Given the description of an element on the screen output the (x, y) to click on. 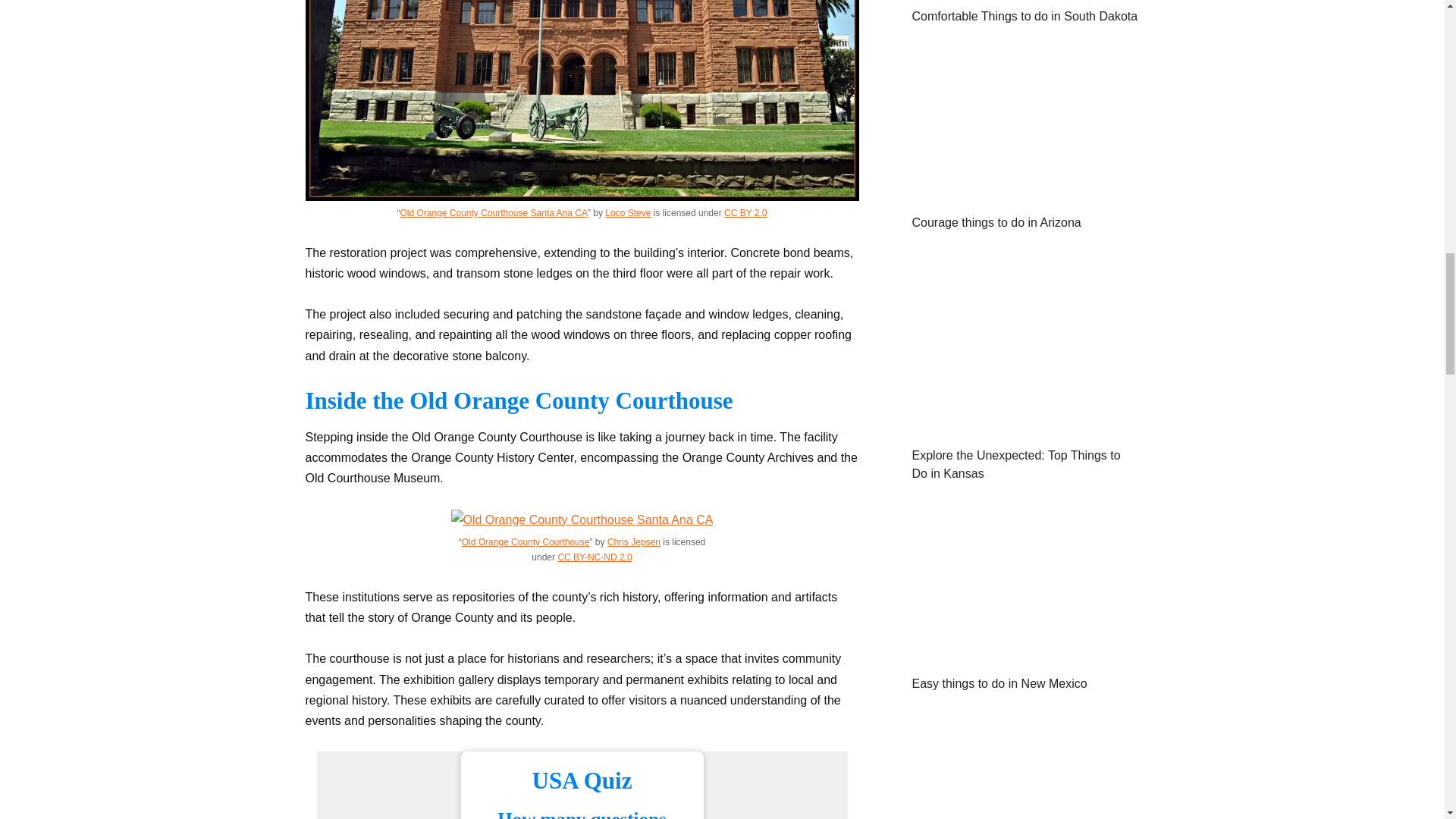
Courage things to do in Arizona (1024, 192)
CC BY-NC-ND 2.0 (594, 557)
Old Orange County Courthouse (525, 542)
Chris Jepsen (634, 542)
Old Orange County Courthouse Santa Ana CA (492, 213)
CC BY 2.0 (745, 213)
Loco Steve (627, 213)
